Given the description of an element on the screen output the (x, y) to click on. 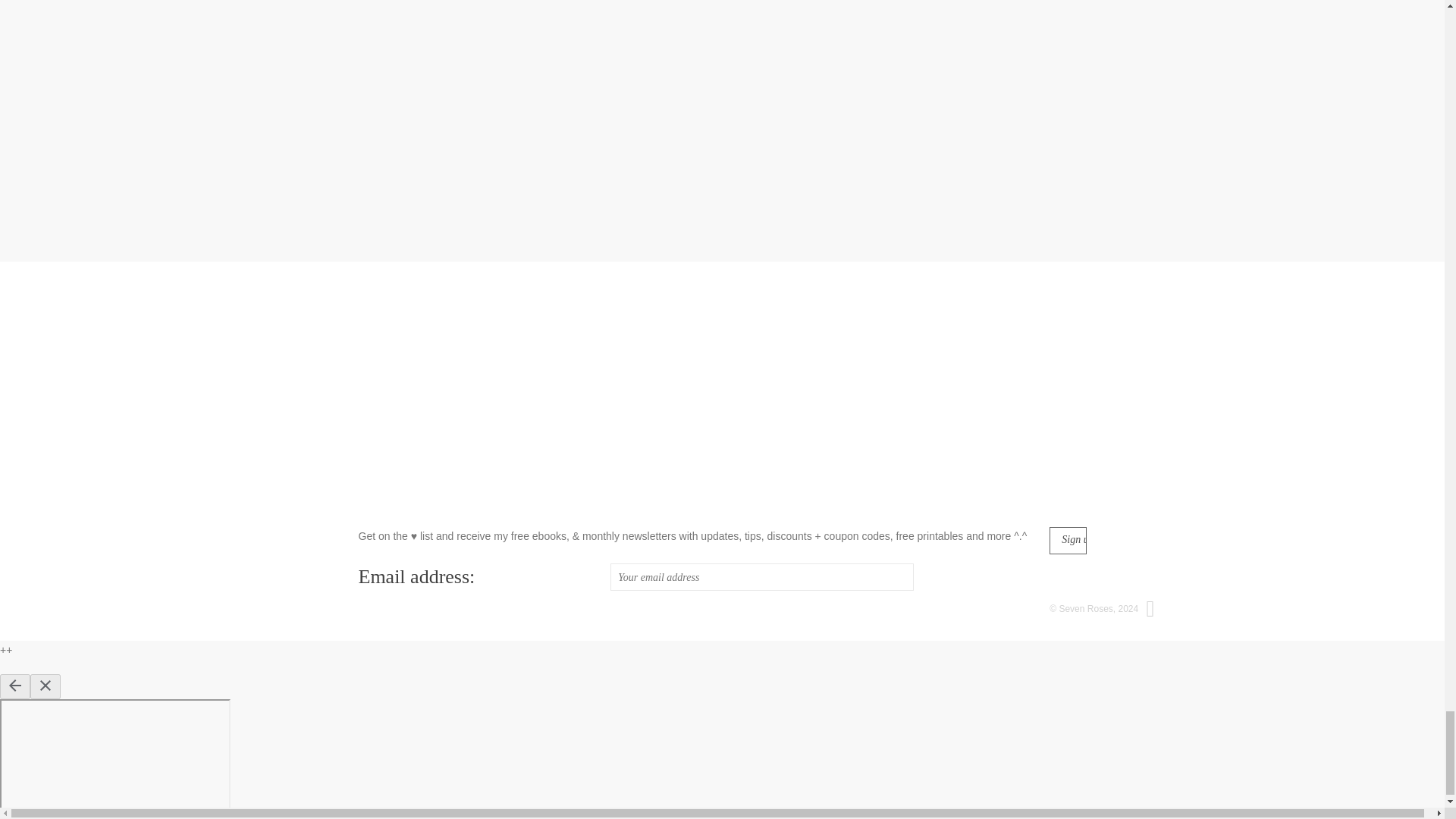
Sign up (1067, 540)
